Given the description of an element on the screen output the (x, y) to click on. 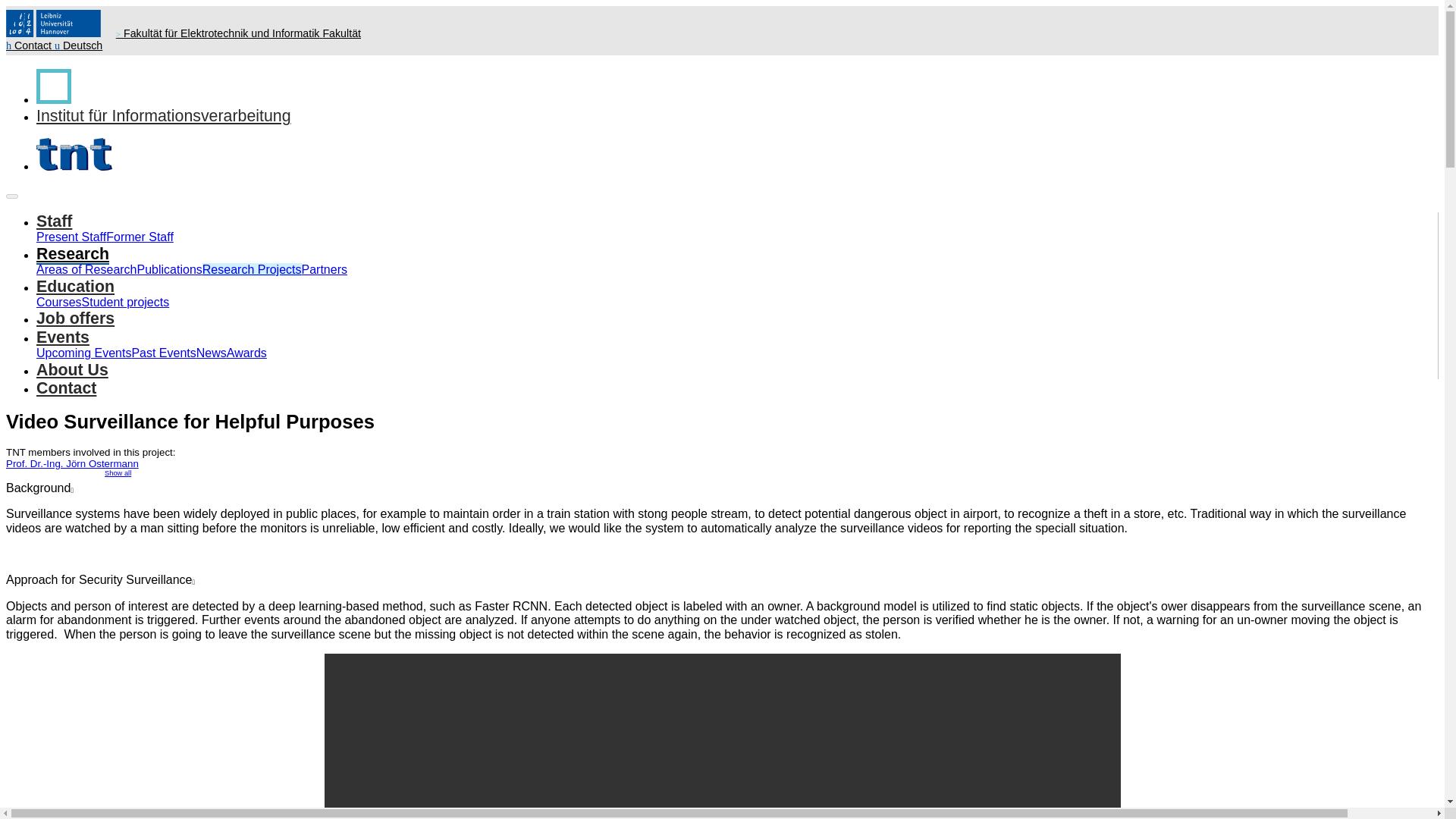
Past Events (163, 352)
Job offers (75, 319)
Research (72, 254)
Former Staff (139, 236)
Deutsch (78, 45)
Events (62, 338)
h Contact (30, 45)
Areas of Research (86, 269)
Show all (117, 472)
Student projects (125, 301)
Staff (53, 221)
u Deutsch (78, 45)
News (211, 352)
Contact (30, 45)
Courses (58, 301)
